Given the description of an element on the screen output the (x, y) to click on. 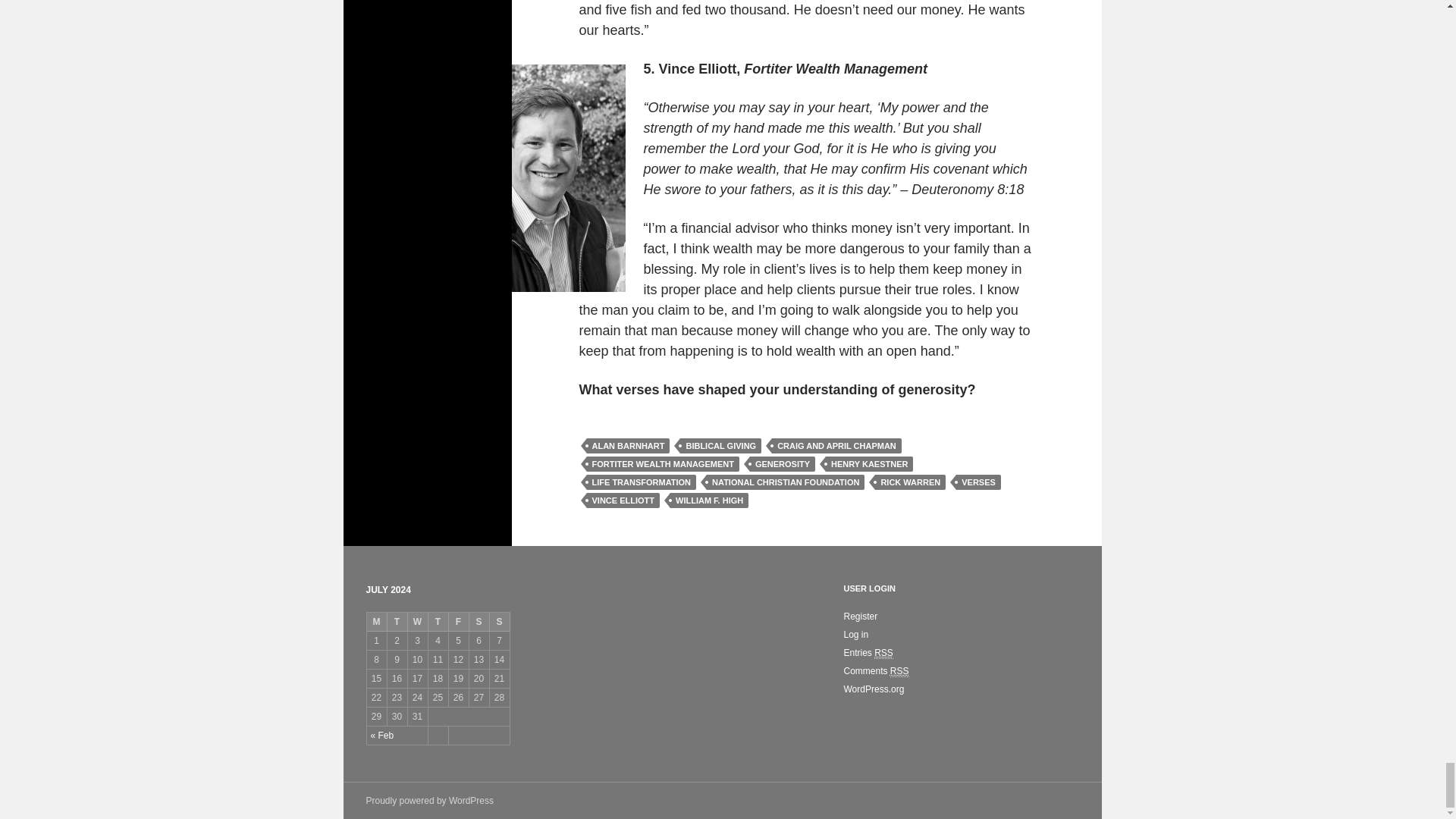
Thursday (438, 621)
Friday (458, 621)
Saturday (478, 621)
Wednesday (417, 621)
Monday (376, 621)
Tuesday (397, 621)
